Given the description of an element on the screen output the (x, y) to click on. 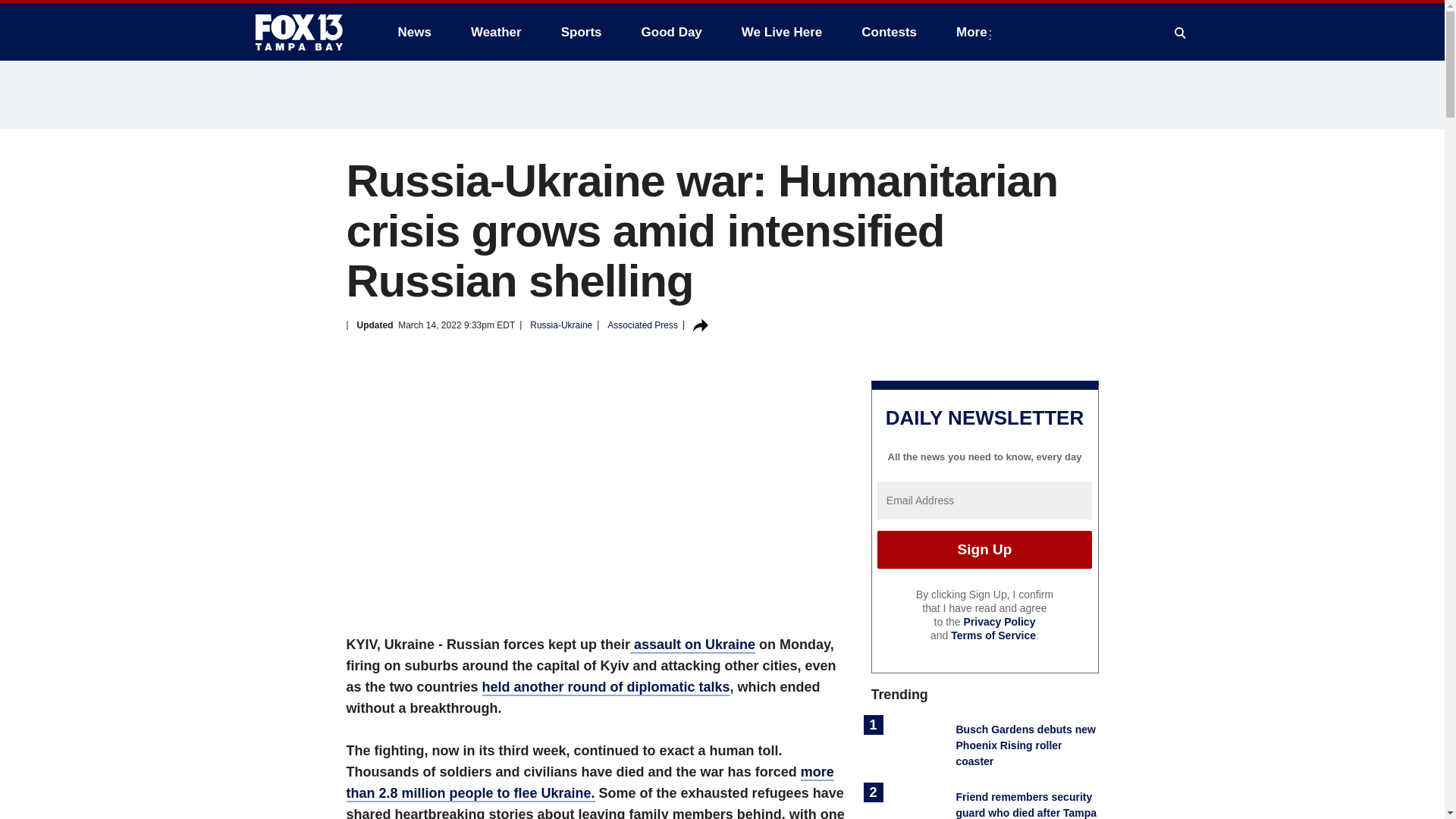
Sign Up (984, 549)
Sports (581, 32)
Weather (496, 32)
Contests (888, 32)
We Live Here (781, 32)
Good Day (671, 32)
News (413, 32)
More (974, 32)
